Given the description of an element on the screen output the (x, y) to click on. 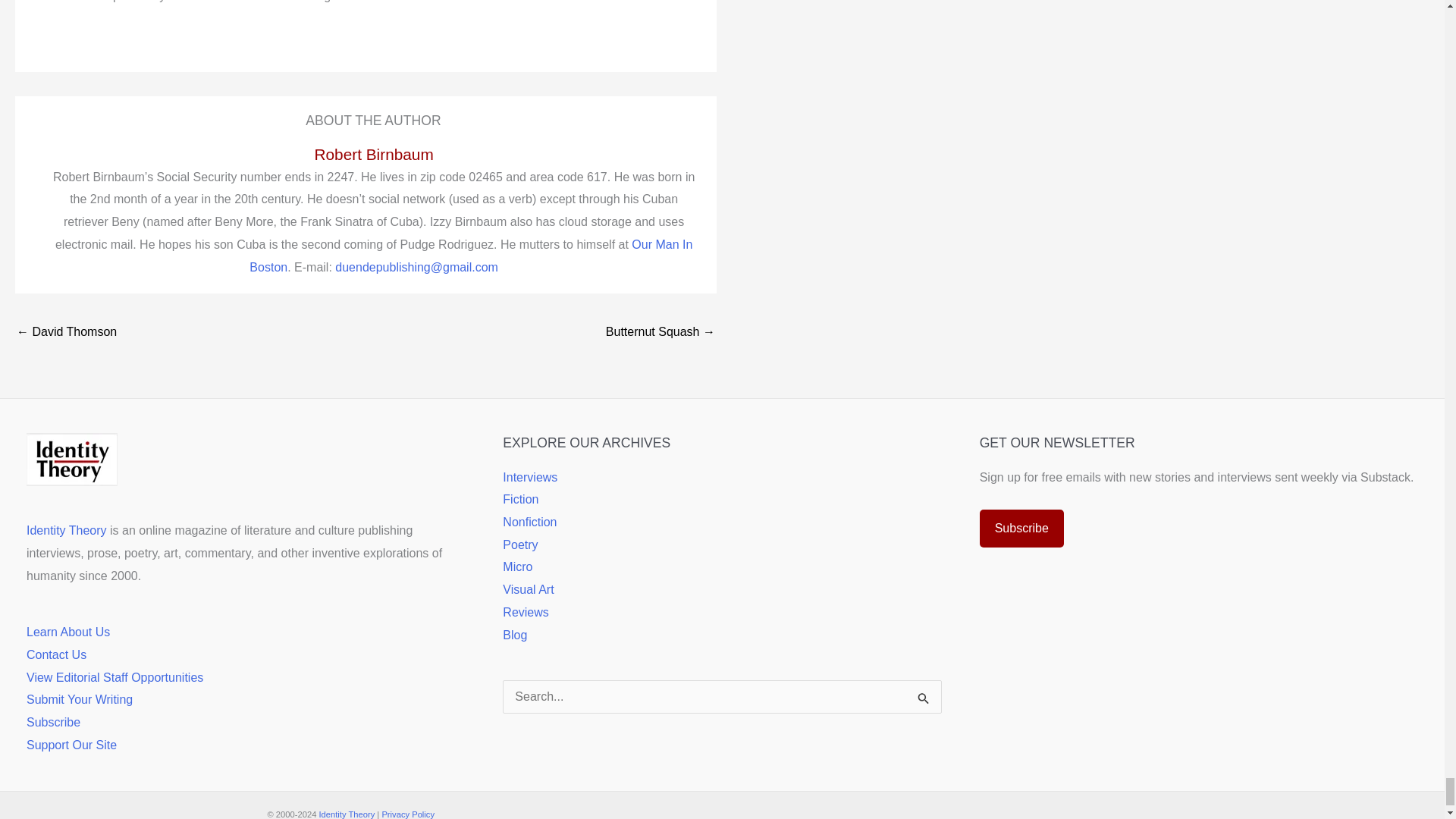
David Thomson (66, 333)
Butternut Squash (659, 333)
